Given the description of an element on the screen output the (x, y) to click on. 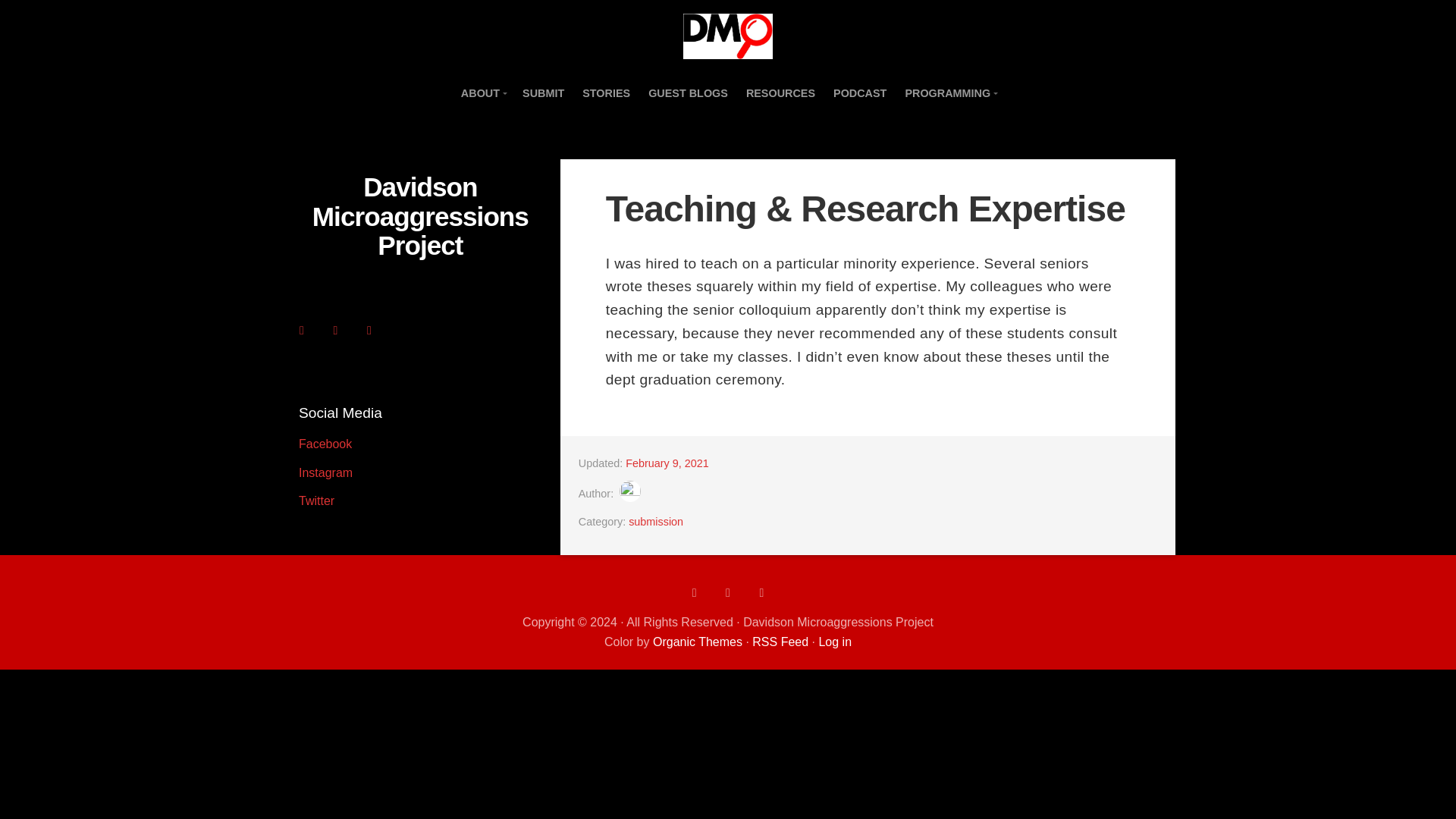
Facebook (325, 443)
RSS Feed (780, 641)
RESOURCES (780, 92)
DMP on Instagram (325, 472)
February 9, 2021 (667, 463)
SUBMIT (543, 92)
STORIES (606, 92)
PROGRAMMING (949, 92)
submission (655, 521)
Log in (834, 641)
ABOUT (482, 92)
Instagram (325, 472)
Twitter (316, 500)
Organic Themes (697, 641)
11:16 pm (667, 463)
